Given the description of an element on the screen output the (x, y) to click on. 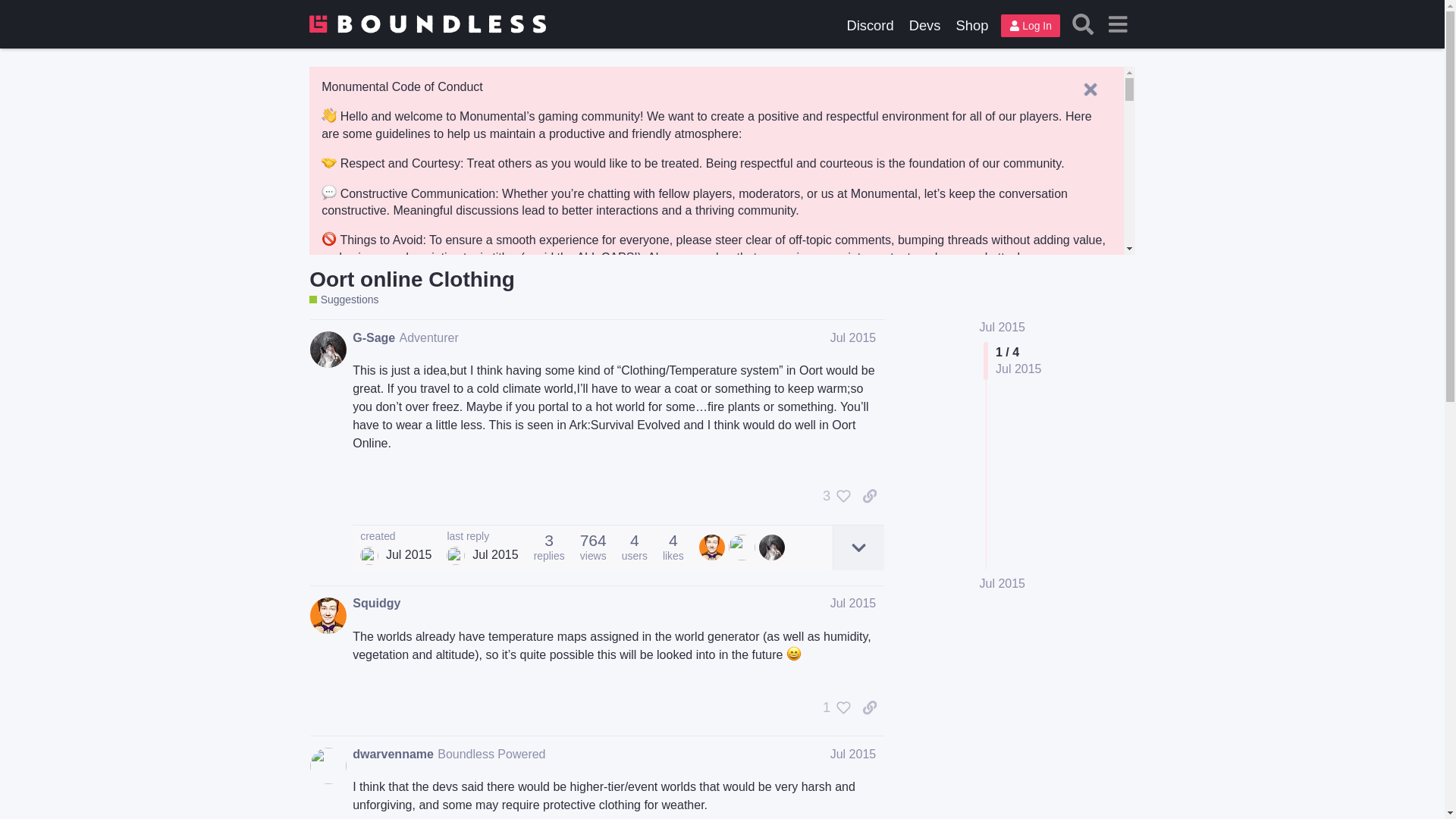
Find all the recent developer posts (925, 25)
last reply (482, 536)
:underage: (328, 285)
Dismiss this banner (1090, 88)
Squidgy (376, 603)
Oort online Clothing (411, 279)
dwarvenname (392, 754)
Devs (925, 25)
1 (832, 707)
Jul 2015 (852, 337)
Search (1082, 23)
Jul 2015 (1002, 583)
:handshake: (328, 161)
Jul 2015 (852, 603)
G-Sage (373, 338)
